Given the description of an element on the screen output the (x, y) to click on. 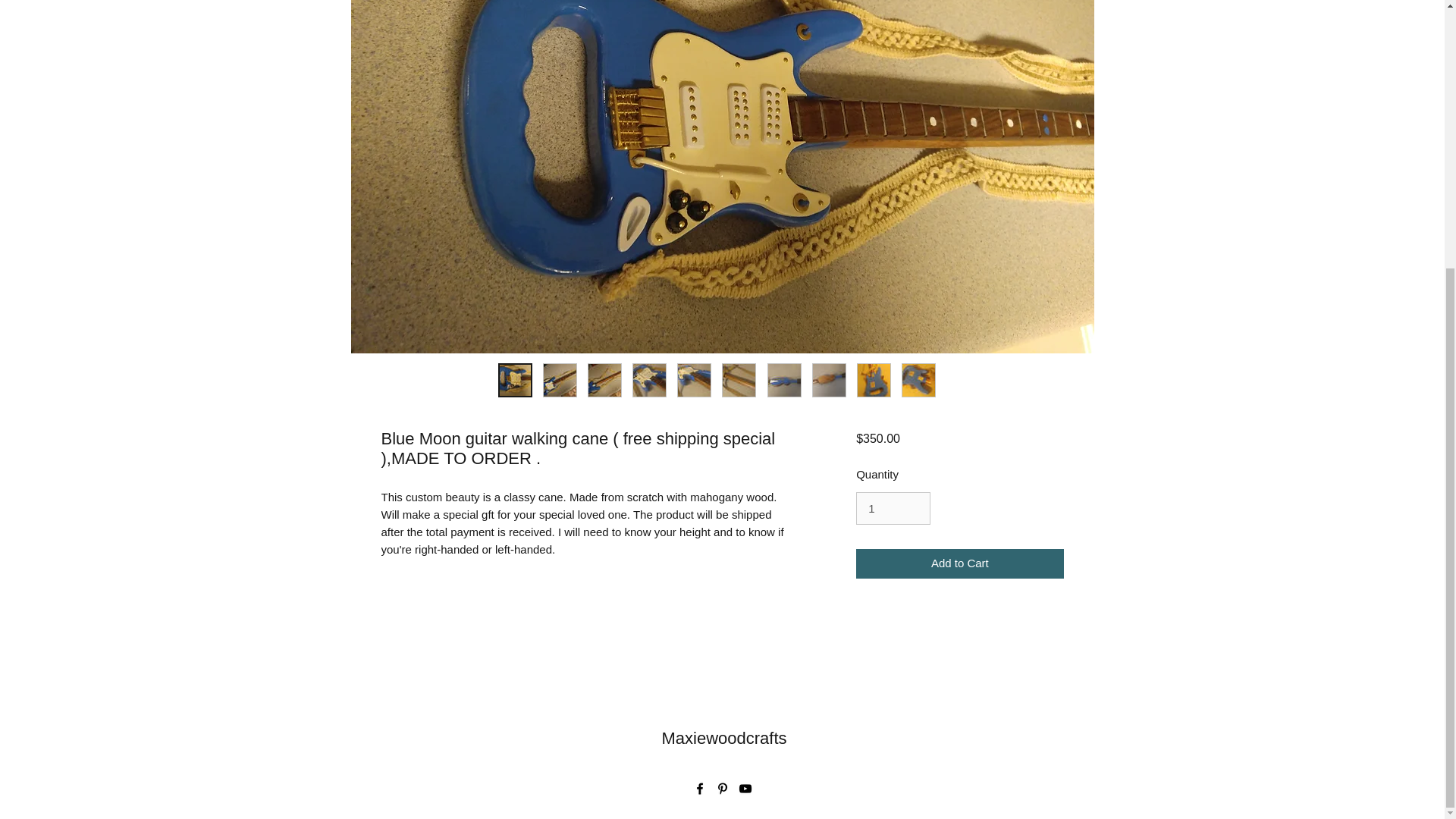
Maxiewoodcrafts (723, 737)
1 (893, 508)
Add to Cart (959, 563)
